Given the description of an element on the screen output the (x, y) to click on. 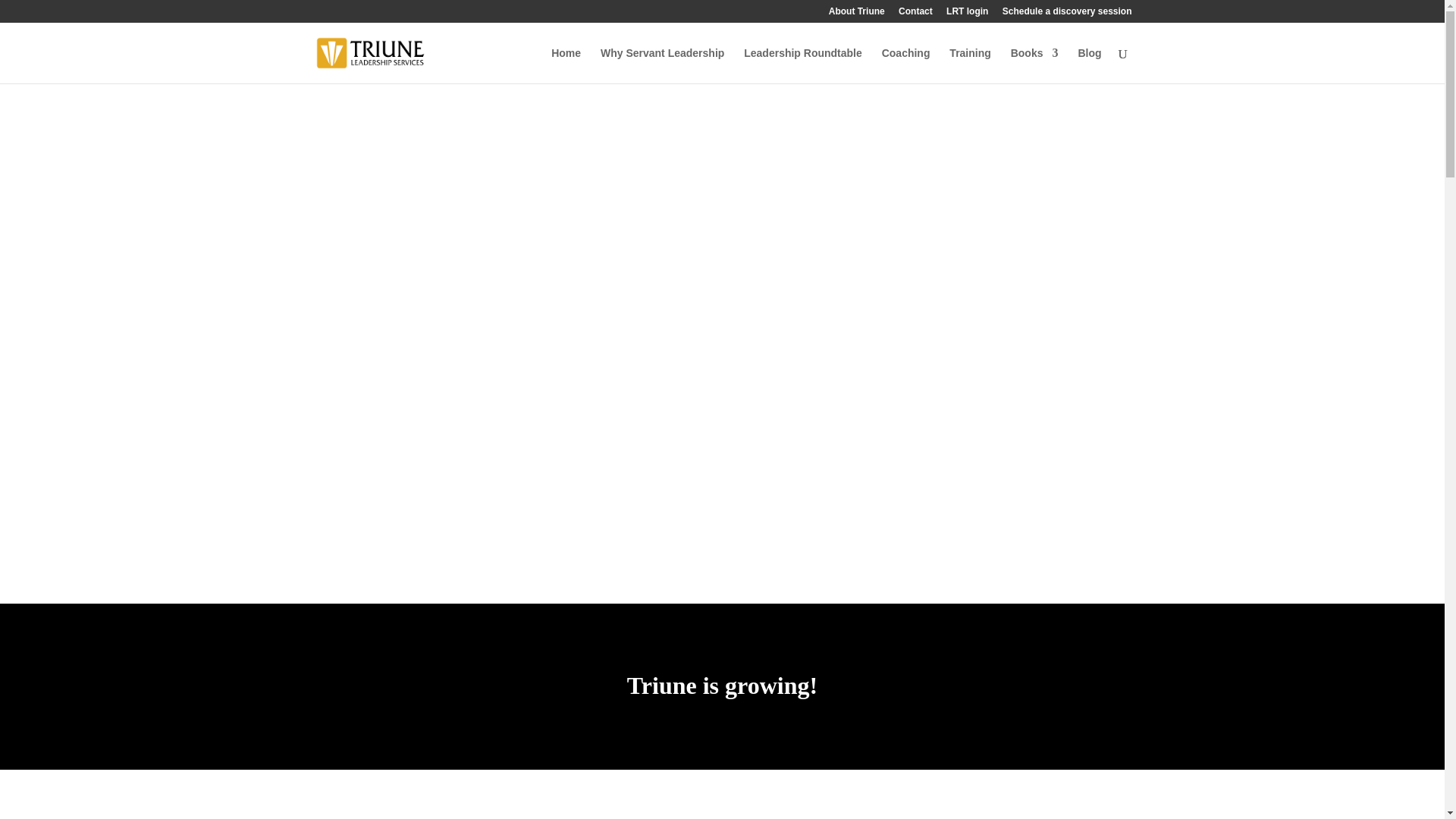
LRT login (967, 14)
Contact (915, 14)
Training (969, 65)
Why Servant Leadership (661, 65)
Books (1034, 65)
About Triune (856, 14)
Schedule a discovery session (1067, 14)
Coaching (906, 65)
Leadership Roundtable (802, 65)
